Given the description of an element on the screen output the (x, y) to click on. 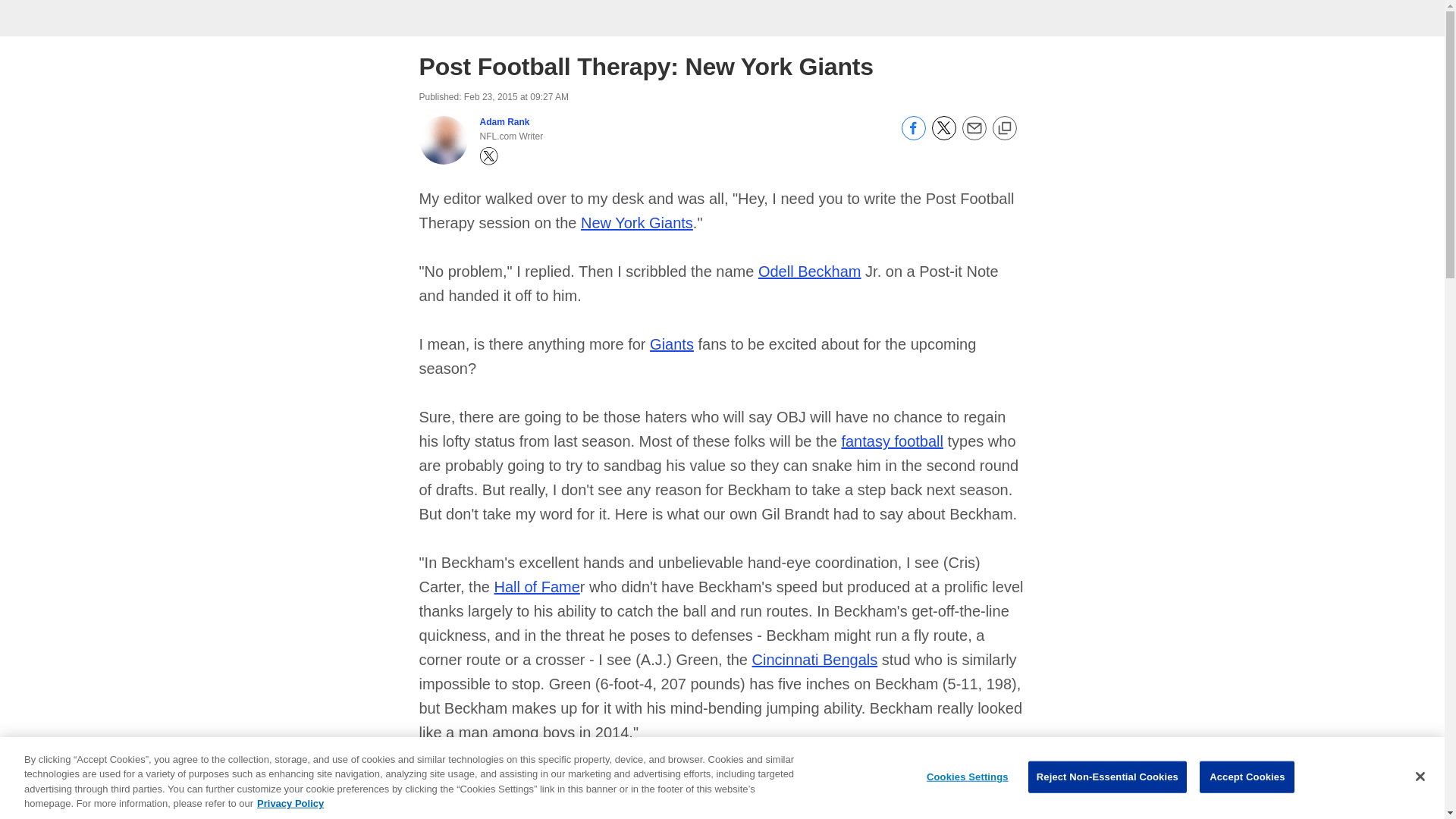
Share on Twitter (943, 136)
Adam Rank (504, 122)
New York Giants (636, 222)
Send email (972, 136)
Copy link (1003, 128)
Share on Facebook (912, 136)
fantasy football (892, 441)
Hall of Fame (536, 586)
Cincinnati Bengals (814, 659)
Odell Beckham (809, 271)
